Given the description of an element on the screen output the (x, y) to click on. 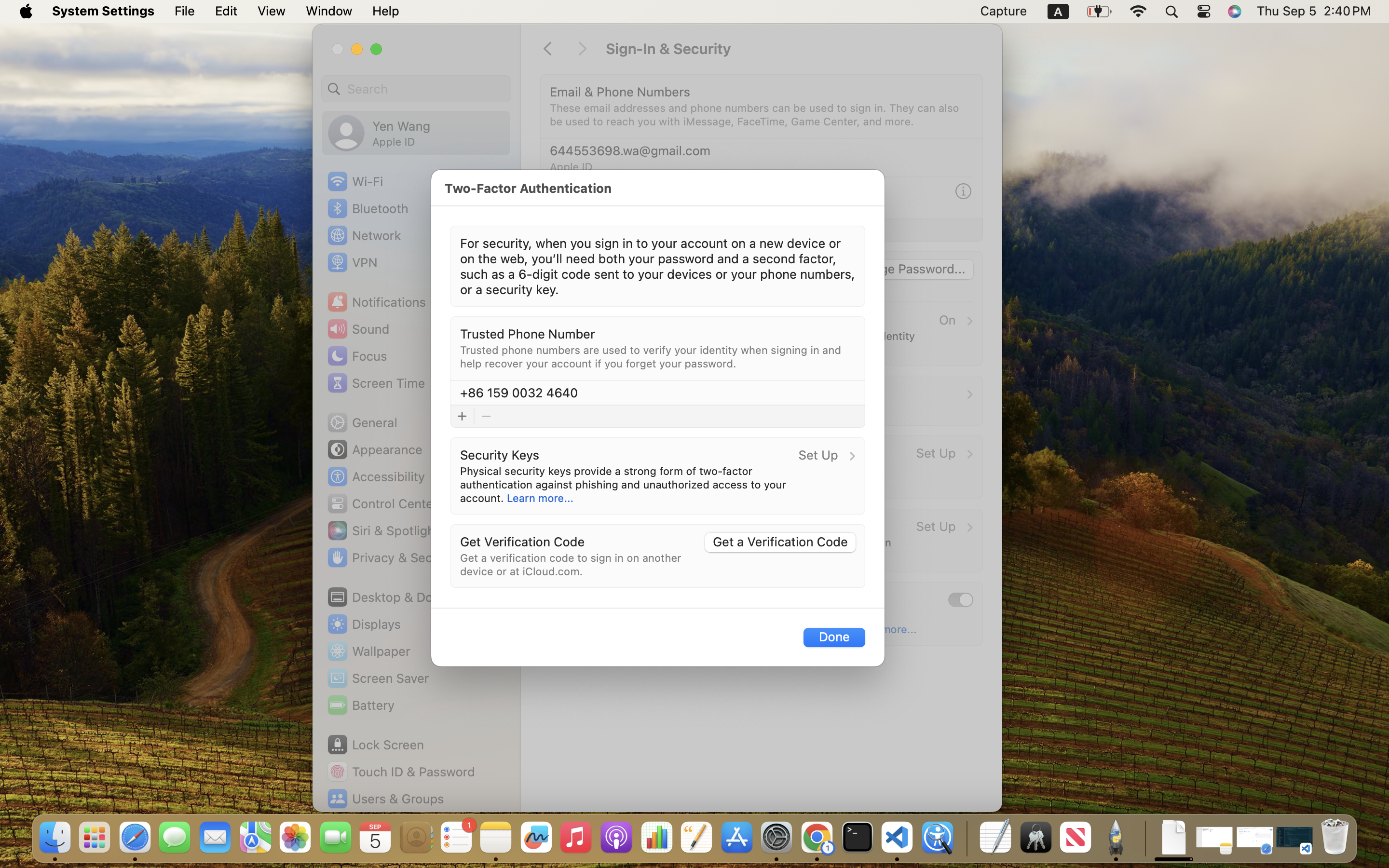
VPN Element type: AXStaticText (351, 261)
‪+86 159 0032 4640‬ Element type: AXStaticText (518, 392)
Desktop & Dock Element type: AXStaticText (386, 596)
Sign-In & Security Element type: AXStaticText (793, 49)
0.4285714328289032 Element type: AXDockItem (965, 837)
